Given the description of an element on the screen output the (x, y) to click on. 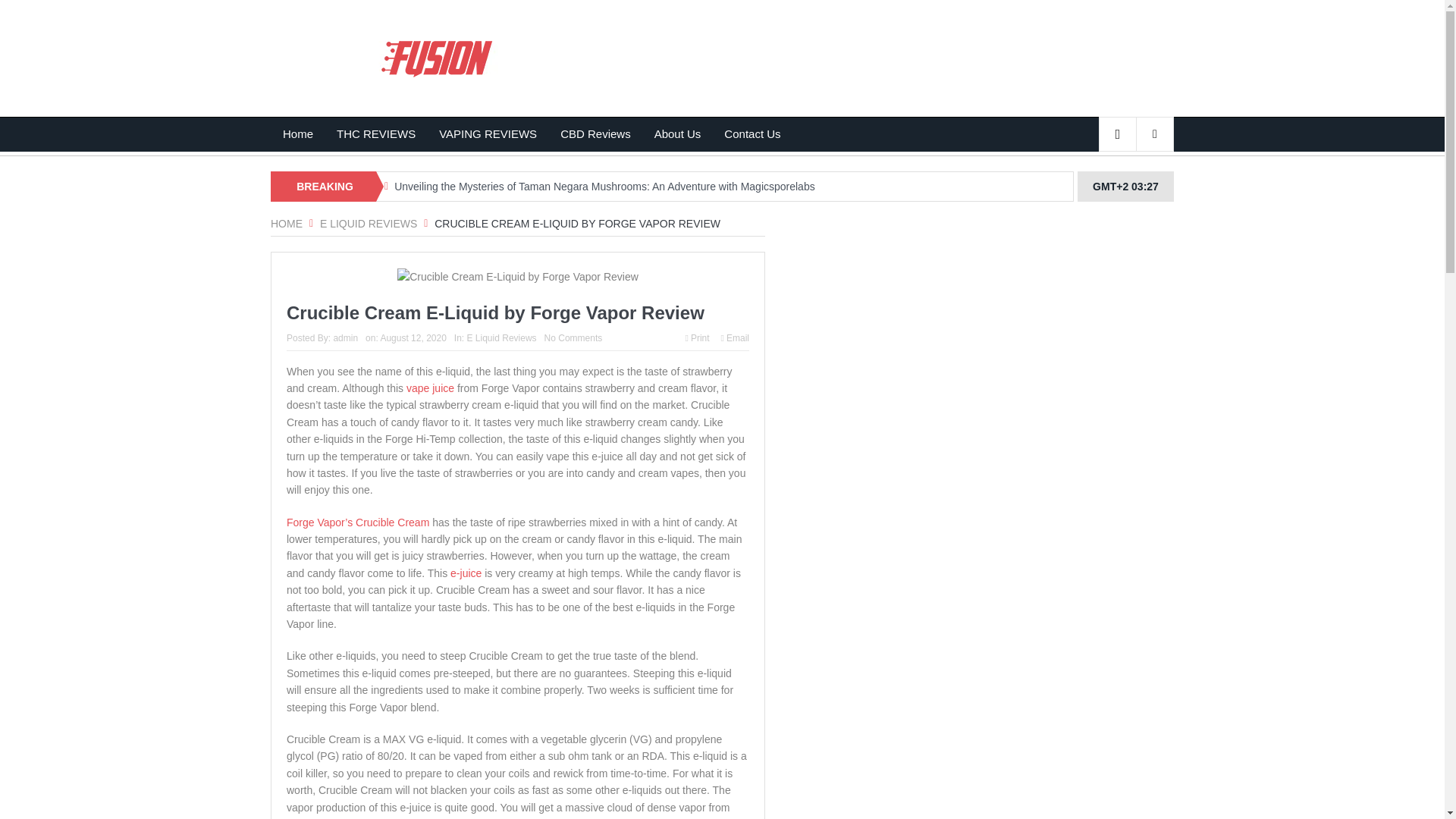
Contact Us (752, 133)
No Comments (573, 337)
HOME (286, 223)
vape juice (430, 387)
THC REVIEWS (375, 133)
Home (297, 133)
About Us (678, 133)
CBD Reviews (595, 133)
View all posts in E Liquid Reviews (502, 337)
Print (697, 337)
E LIQUID REVIEWS (368, 223)
E Liquid Reviews (368, 223)
VAPING REVIEWS (488, 133)
E Liquid Reviews (502, 337)
Email (734, 337)
